Given the description of an element on the screen output the (x, y) to click on. 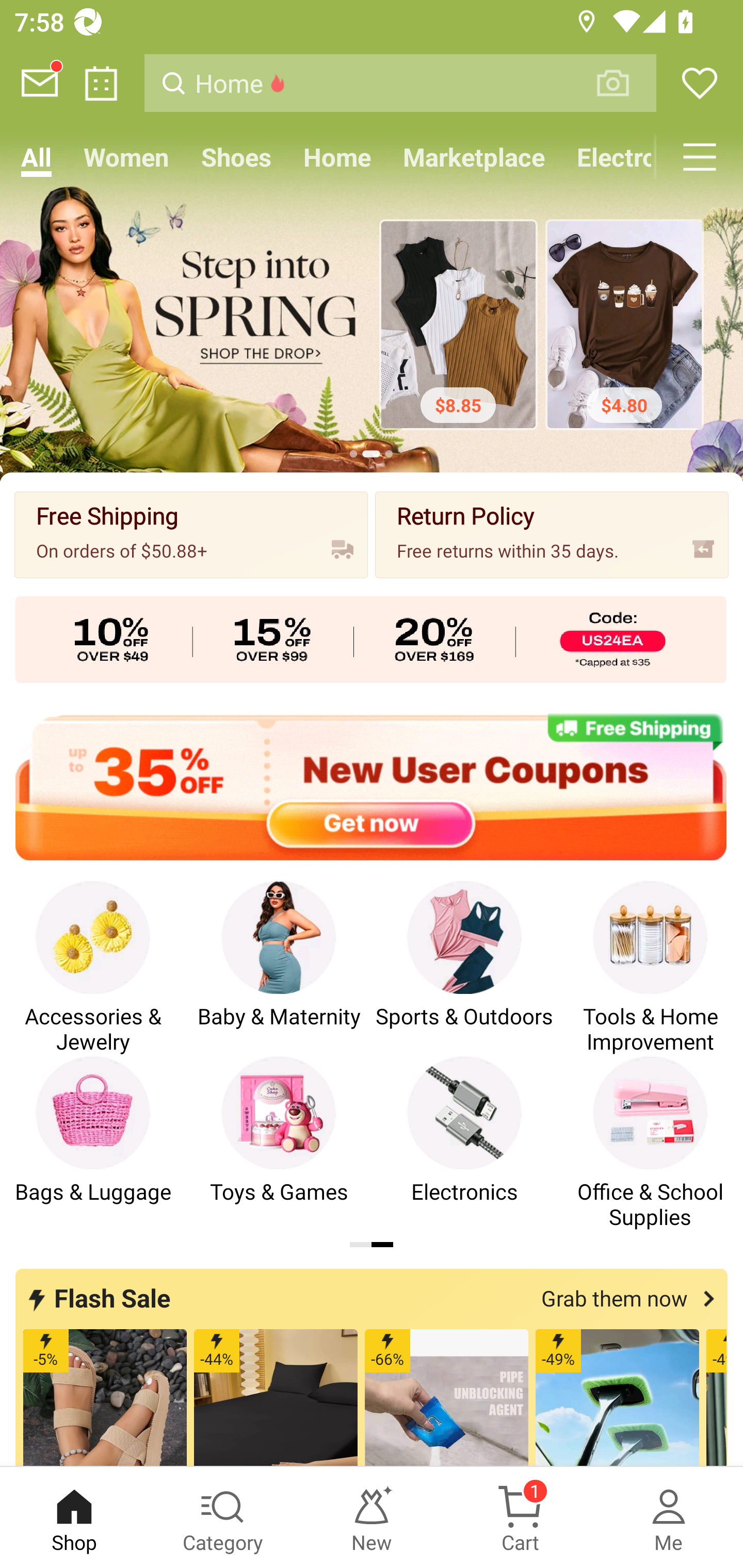
Wishlist (699, 82)
VISUAL SEARCH (623, 82)
All (36, 156)
Women (126, 156)
Shoes (236, 156)
Home (337, 156)
Marketplace (473, 156)
Electronics (608, 156)
$8.85 $4.80 (371, 327)
Free Shipping On orders of $50.88+ (190, 534)
Return Policy Free returns within 35 days. (551, 534)
Accessories & Jewelry (92, 968)
Baby & Maternity (278, 968)
Sports & Outdoors (464, 968)
Tools & Home Improvement (650, 968)
Bags & Luggage (92, 1142)
Toys & Games (278, 1142)
Electronics (464, 1142)
Office & School Supplies (650, 1142)
Category (222, 1517)
New (371, 1517)
Cart 1 Cart (519, 1517)
Me (668, 1517)
